Given the description of an element on the screen output the (x, y) to click on. 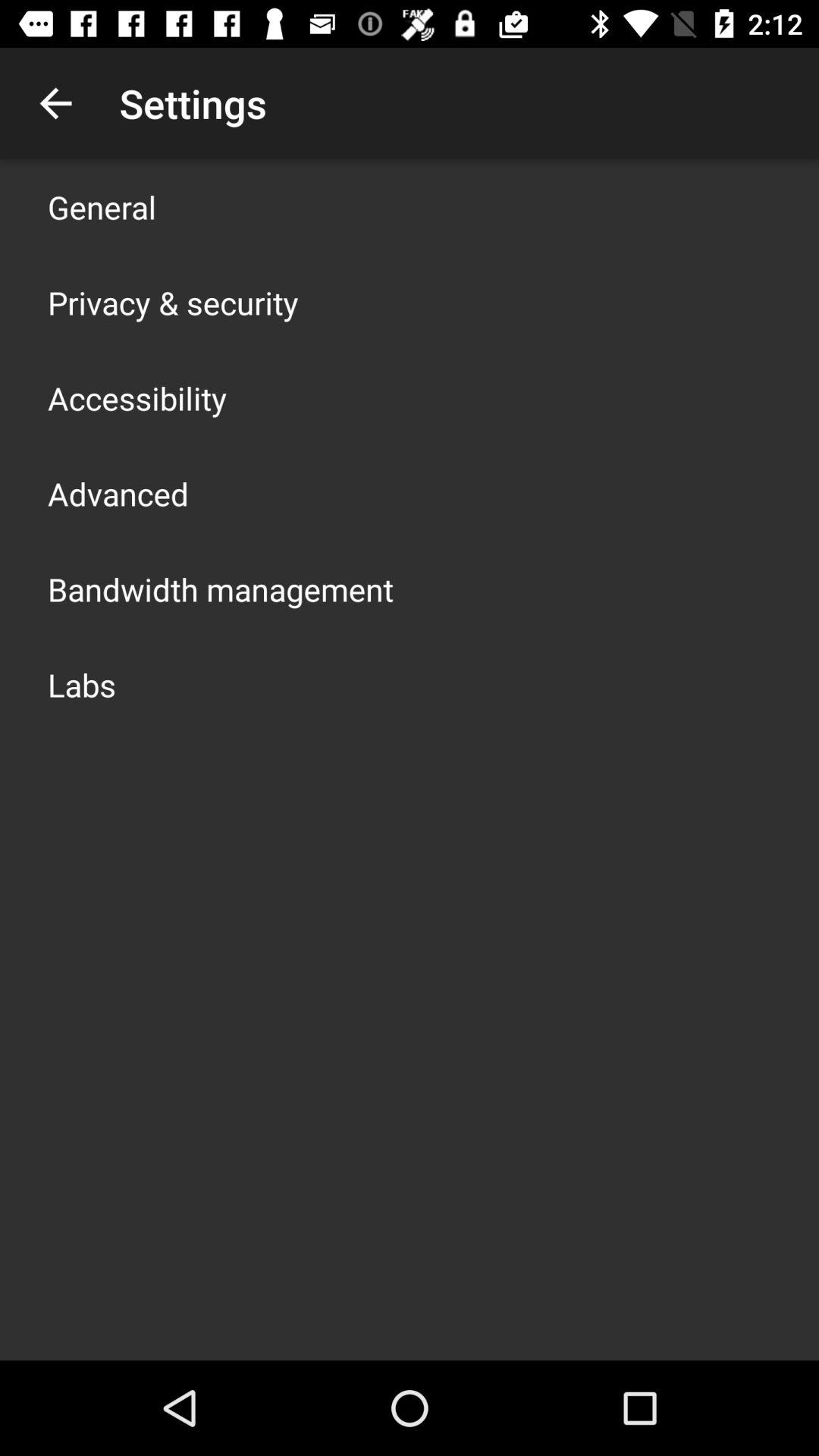
press app above the advanced item (136, 397)
